Given the description of an element on the screen output the (x, y) to click on. 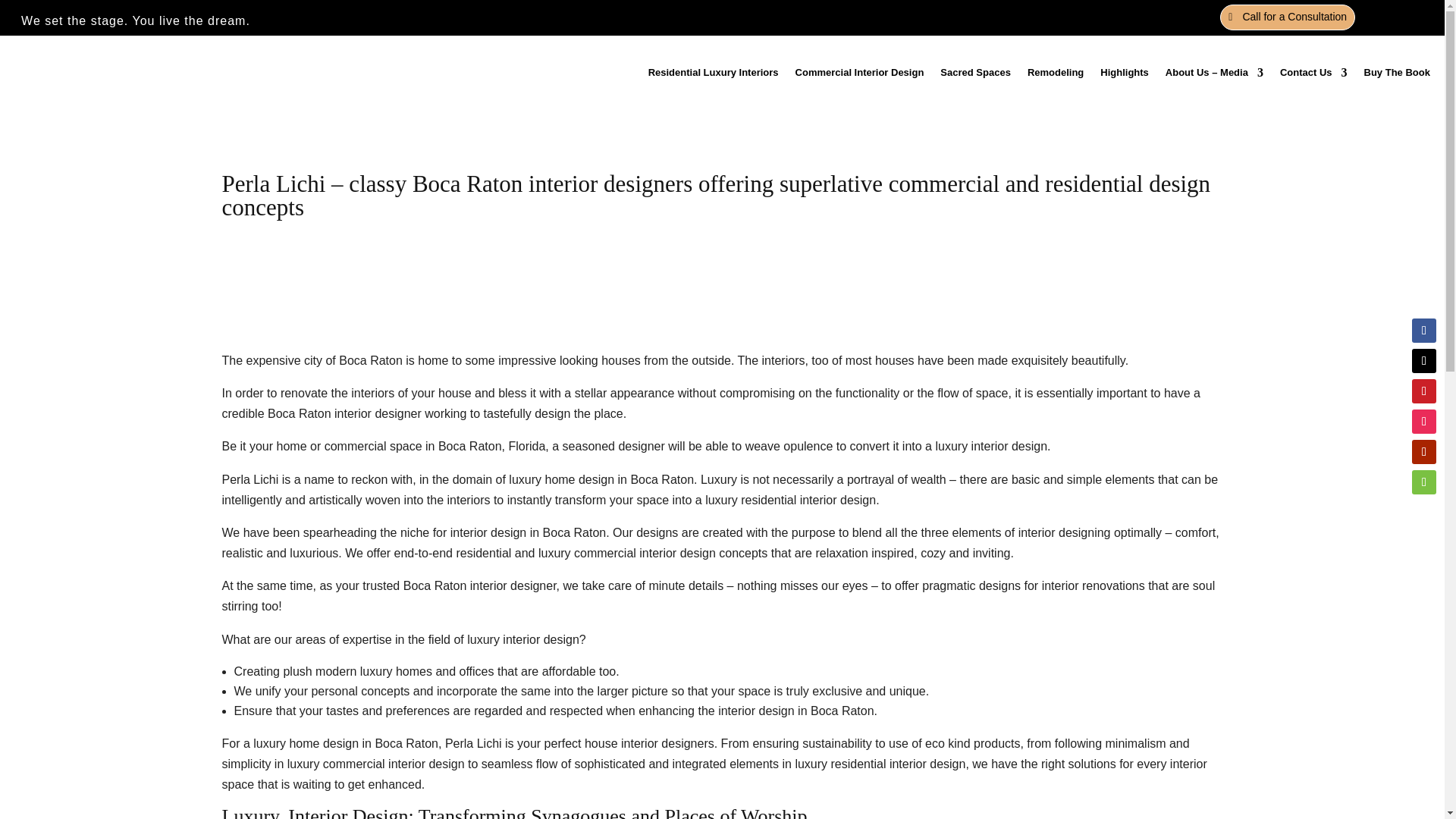
Commercial Interior Design (859, 72)
Follow on Instagram (1423, 421)
Follow on X (1423, 360)
b8 1 (721, 282)
Call for a Consultation (1287, 17)
Remodeling (1055, 72)
Follow on Houzz (1423, 482)
Perla Lichi Design (124, 72)
Highlights (1124, 72)
Follow on Pinterest (1423, 391)
Buy The Book (1396, 72)
Follow on Facebook (1423, 330)
Follow on Youtube (1423, 451)
Residential Luxury Interiors (712, 72)
Contact Us (1313, 72)
